Given the description of an element on the screen output the (x, y) to click on. 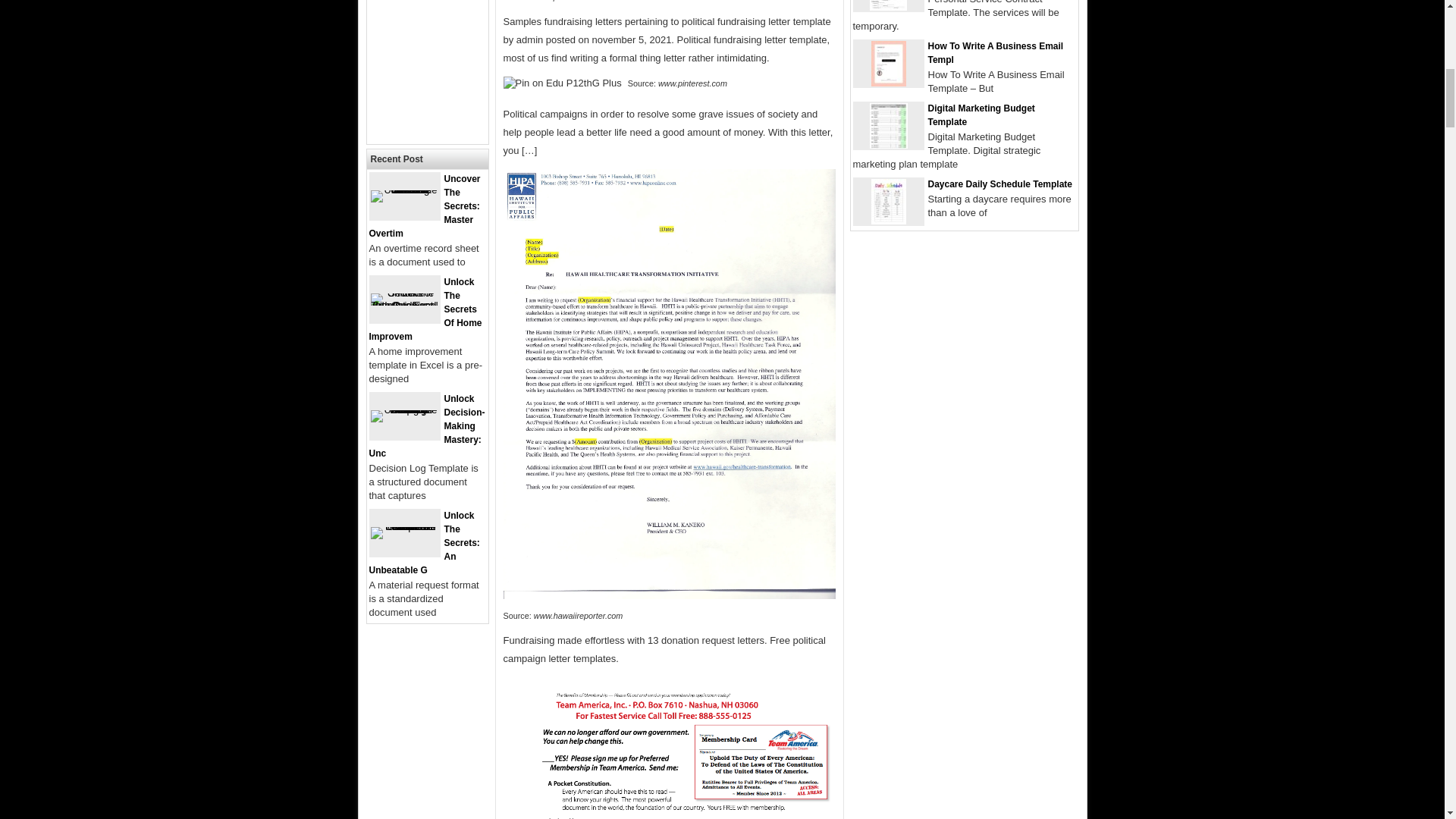
Unlock The Secrets Of Home Improvem (424, 309)
Uncover The Secrets: Master Overtim (424, 206)
Unlock Decision-Making Mastery: Unc (426, 425)
